Given the description of an element on the screen output the (x, y) to click on. 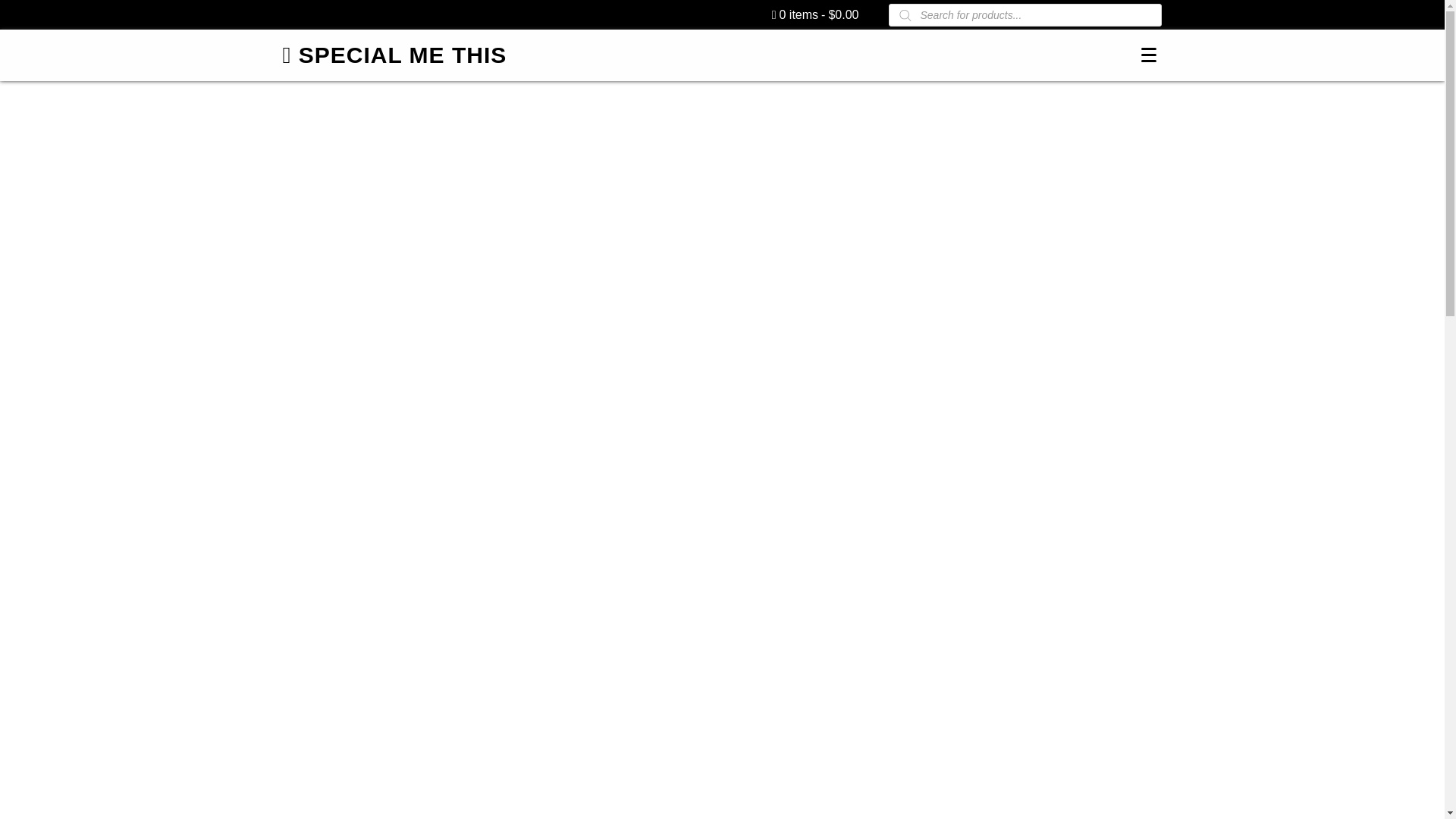
Start shopping (815, 14)
959 (370, 298)
 SPECIAL ME THIS (394, 54)
